Given the description of an element on the screen output the (x, y) to click on. 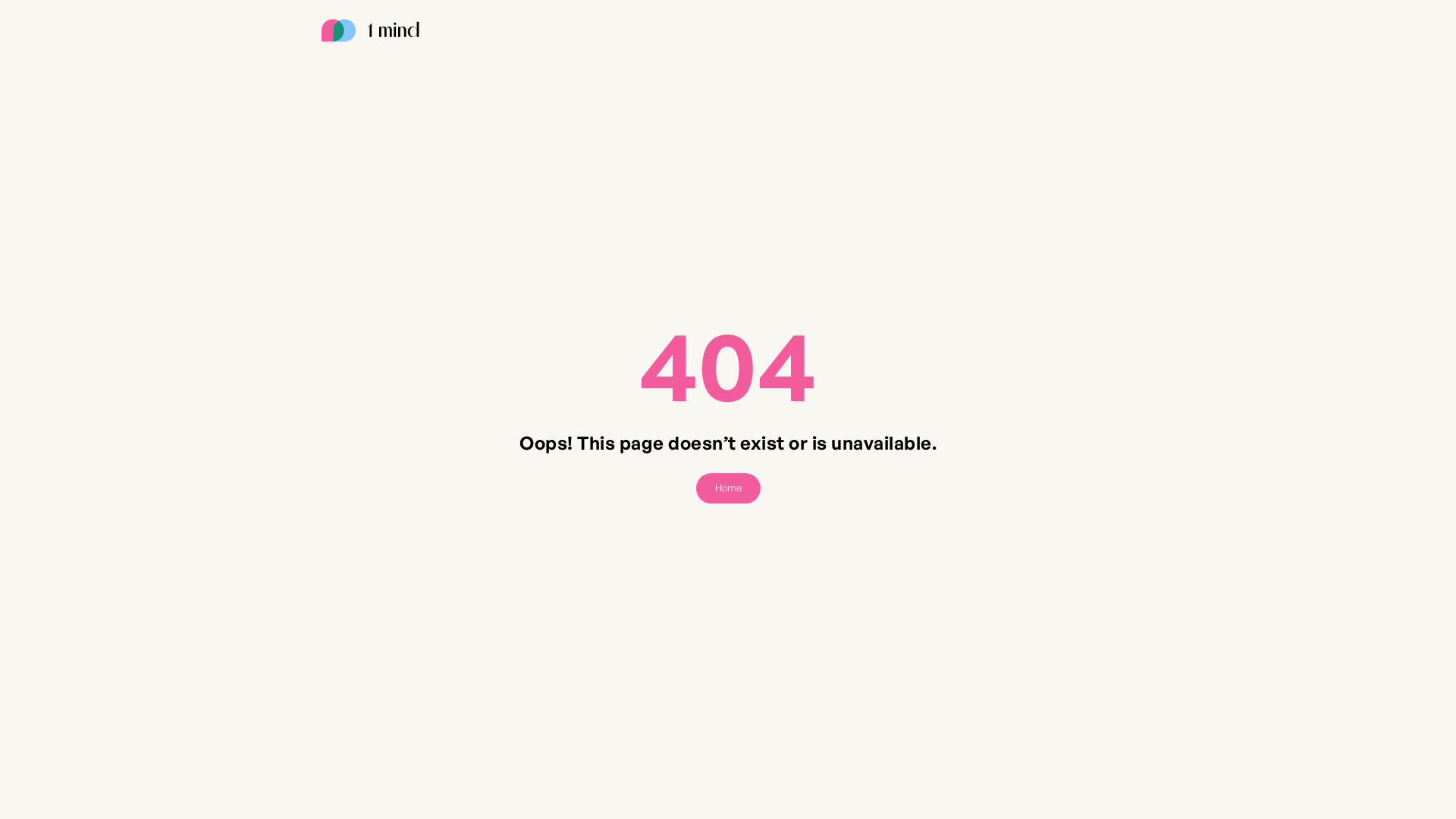
Home Element type: text (728, 488)
